Given the description of an element on the screen output the (x, y) to click on. 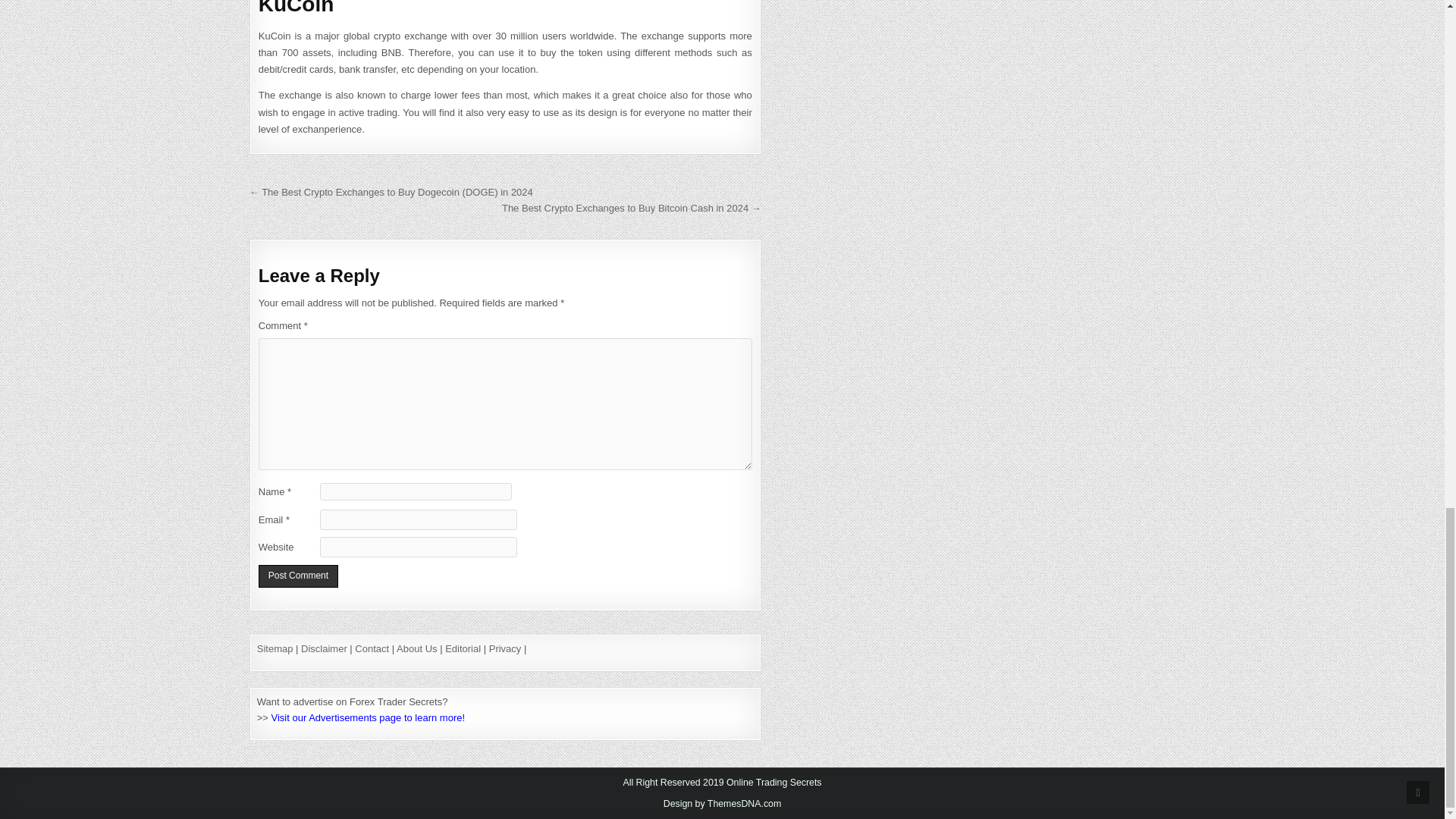
Visit our Advertisements page to learn more! (367, 717)
Privacy (505, 648)
Post Comment (298, 576)
Disclaimer (324, 648)
Contact (371, 648)
About Us (416, 648)
Post Comment (298, 576)
Editorial (462, 648)
Sitemap (275, 648)
